Given the description of an element on the screen output the (x, y) to click on. 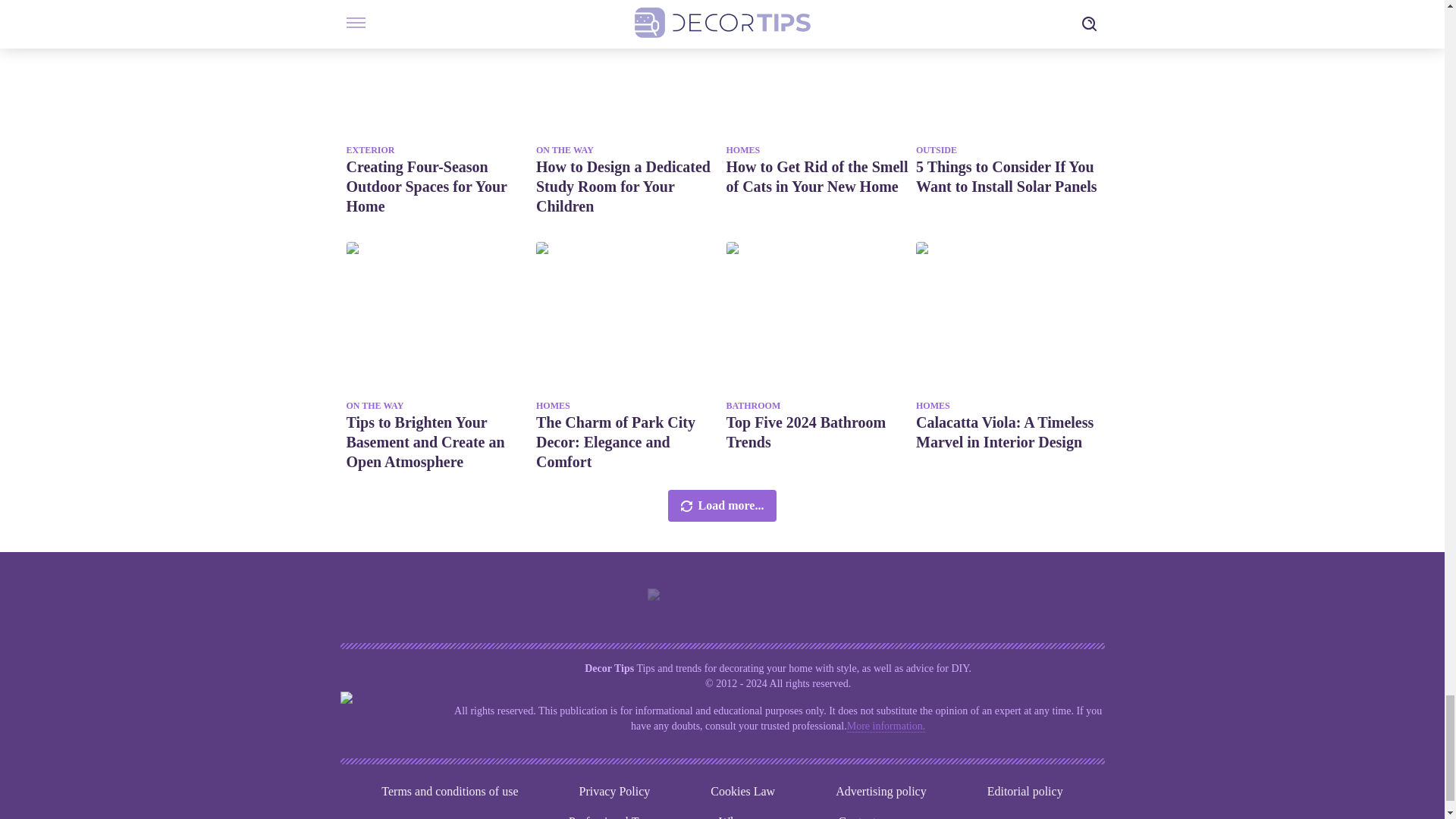
Top Five 2024 Bathroom Trends (817, 432)
Privacy Policy (614, 790)
Load more... (722, 505)
BATHROOM (817, 405)
5 Things to Consider If You Want to Install Solar Panels (1007, 176)
HOMES (817, 150)
ON THE WAY (627, 150)
Tips to Brighten Your Basement and Create an Open Atmosphere (437, 441)
Creating Four-Season Outdoor Spaces for Your Home (437, 186)
How to Get Rid of the Smell of Cats in Your New Home (817, 176)
